Given the description of an element on the screen output the (x, y) to click on. 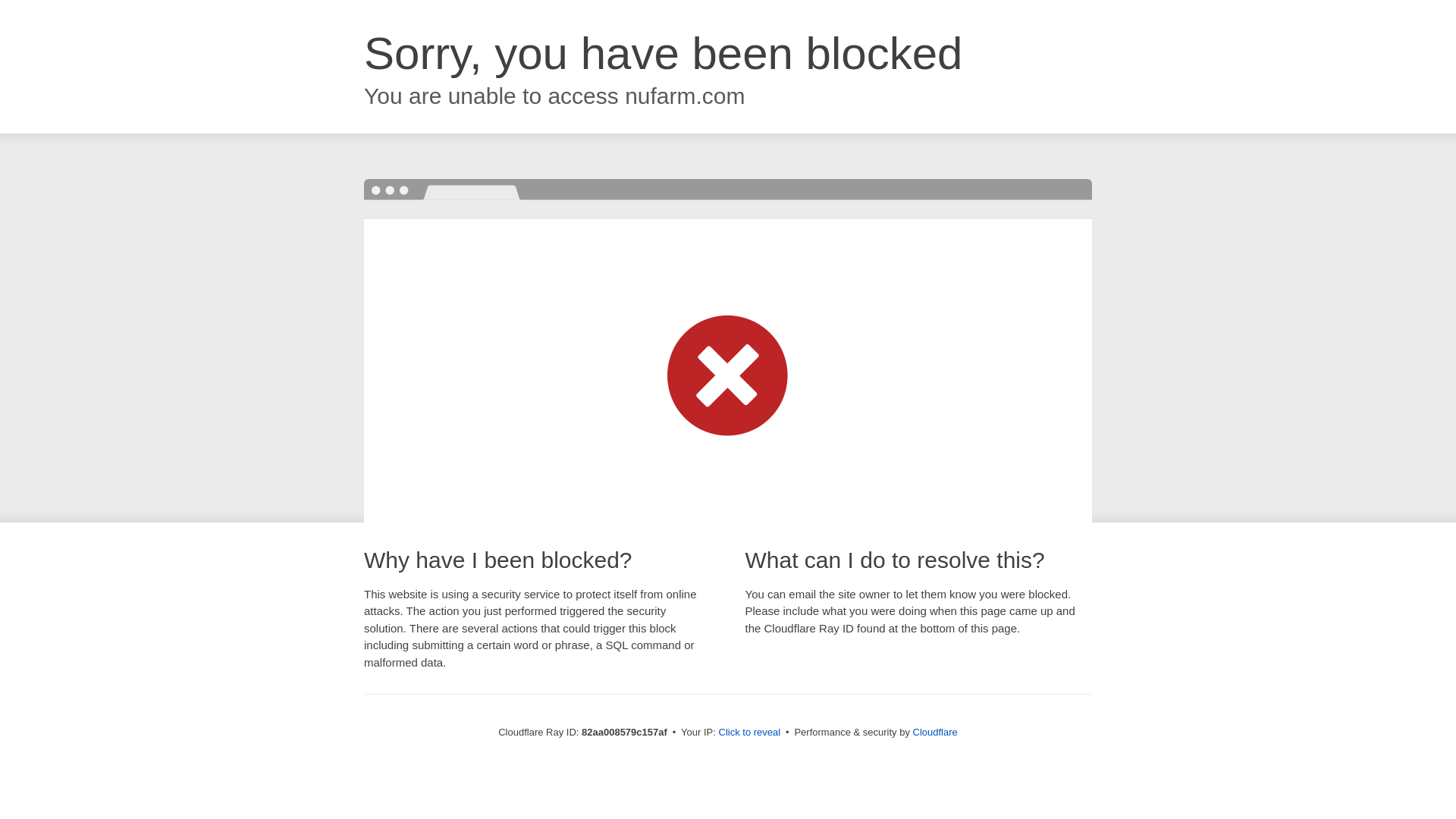
Cloudflare Element type: text (935, 731)
Click to reveal Element type: text (749, 732)
